Given the description of an element on the screen output the (x, y) to click on. 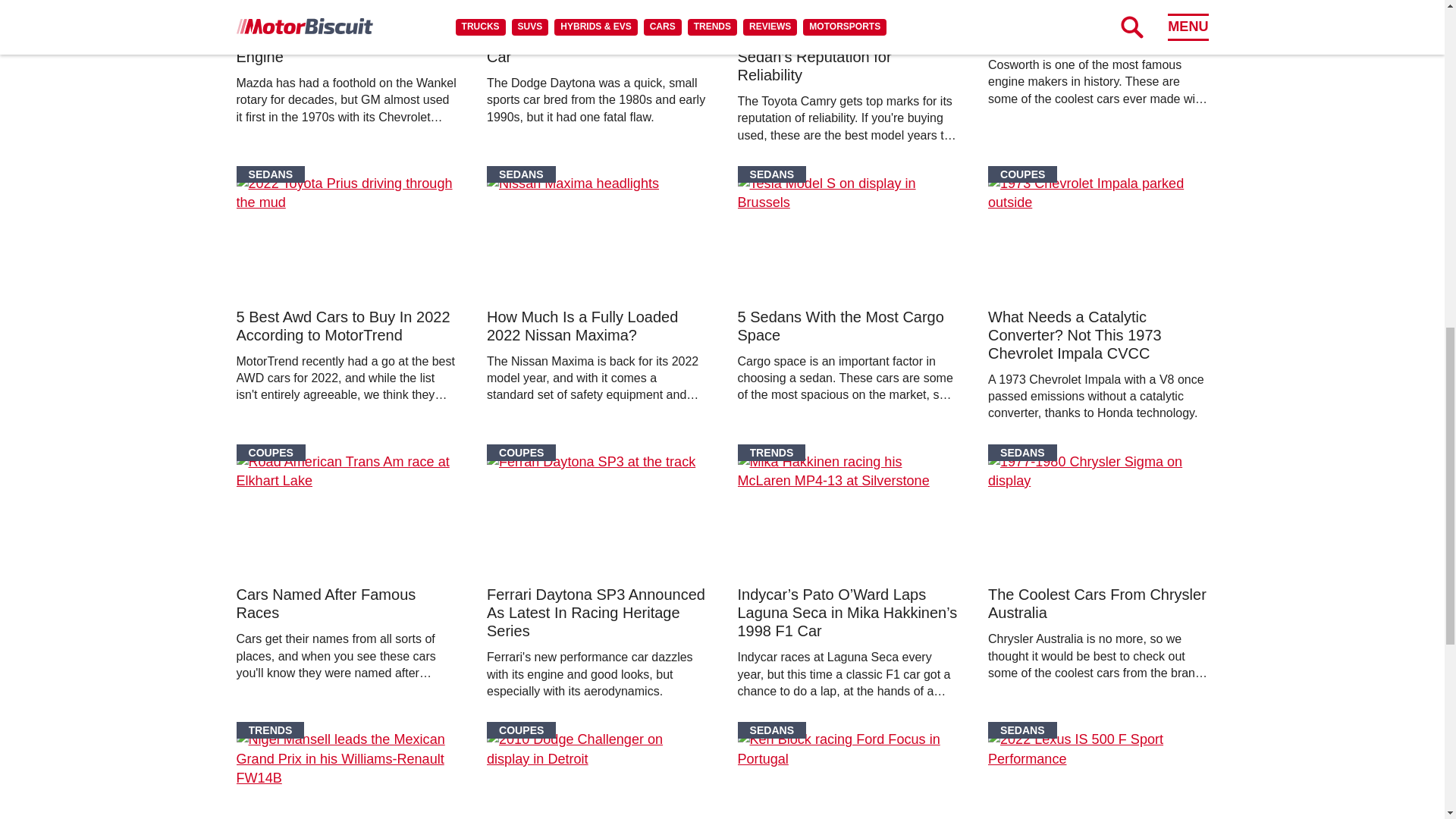
Sedans (270, 174)
Coupes (521, 452)
Coupes (270, 452)
Sedans (1022, 452)
Sedans (771, 174)
Trends (770, 452)
Coupes (1022, 174)
Trends (269, 729)
Sedans (521, 174)
